Given the description of an element on the screen output the (x, y) to click on. 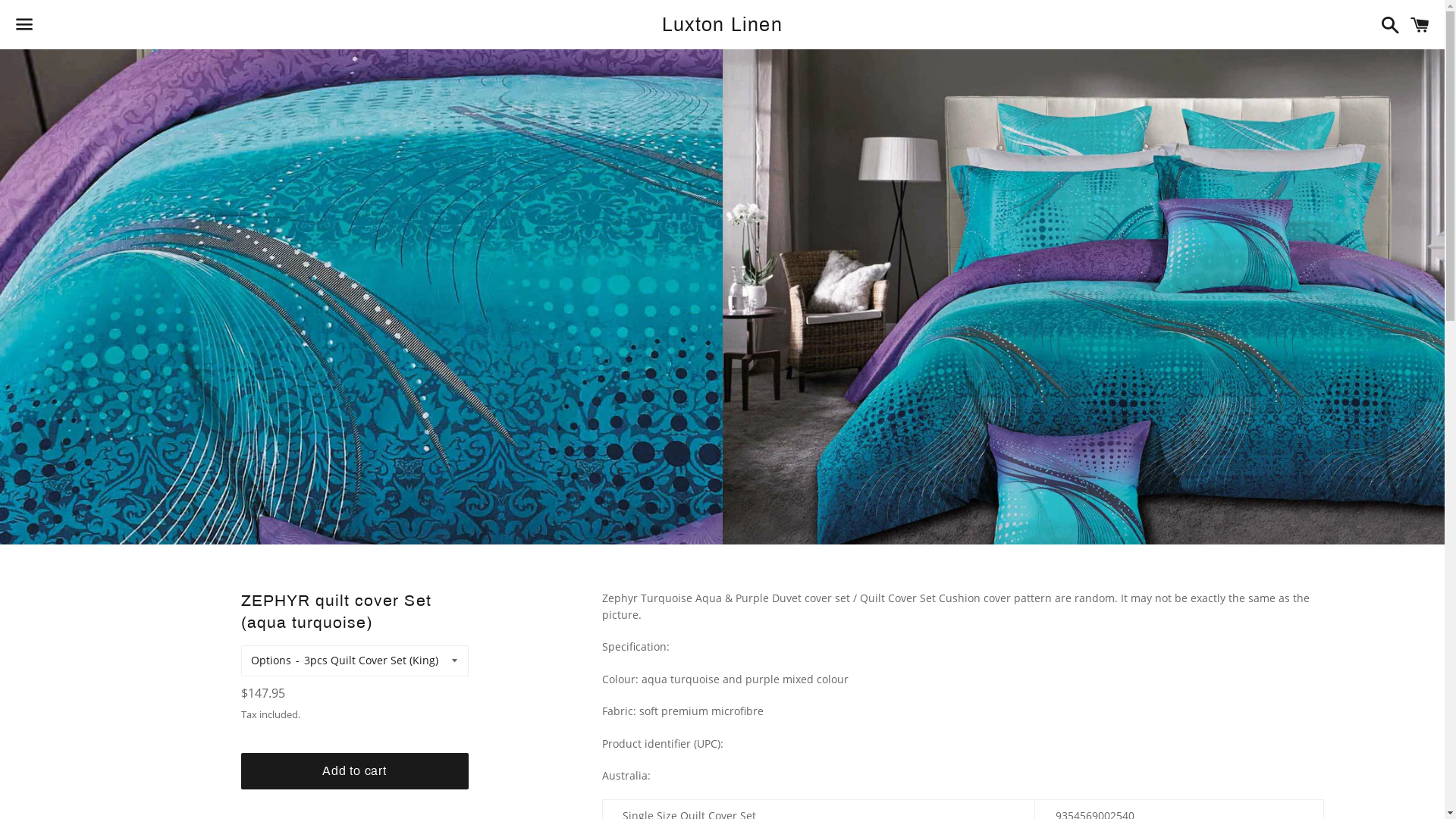
Add to cart Element type: text (354, 771)
Search Element type: text (1386, 24)
Menu Element type: text (24, 24)
Luxton Linen Element type: text (721, 24)
Cart Element type: text (1419, 24)
